Given the description of an element on the screen output the (x, y) to click on. 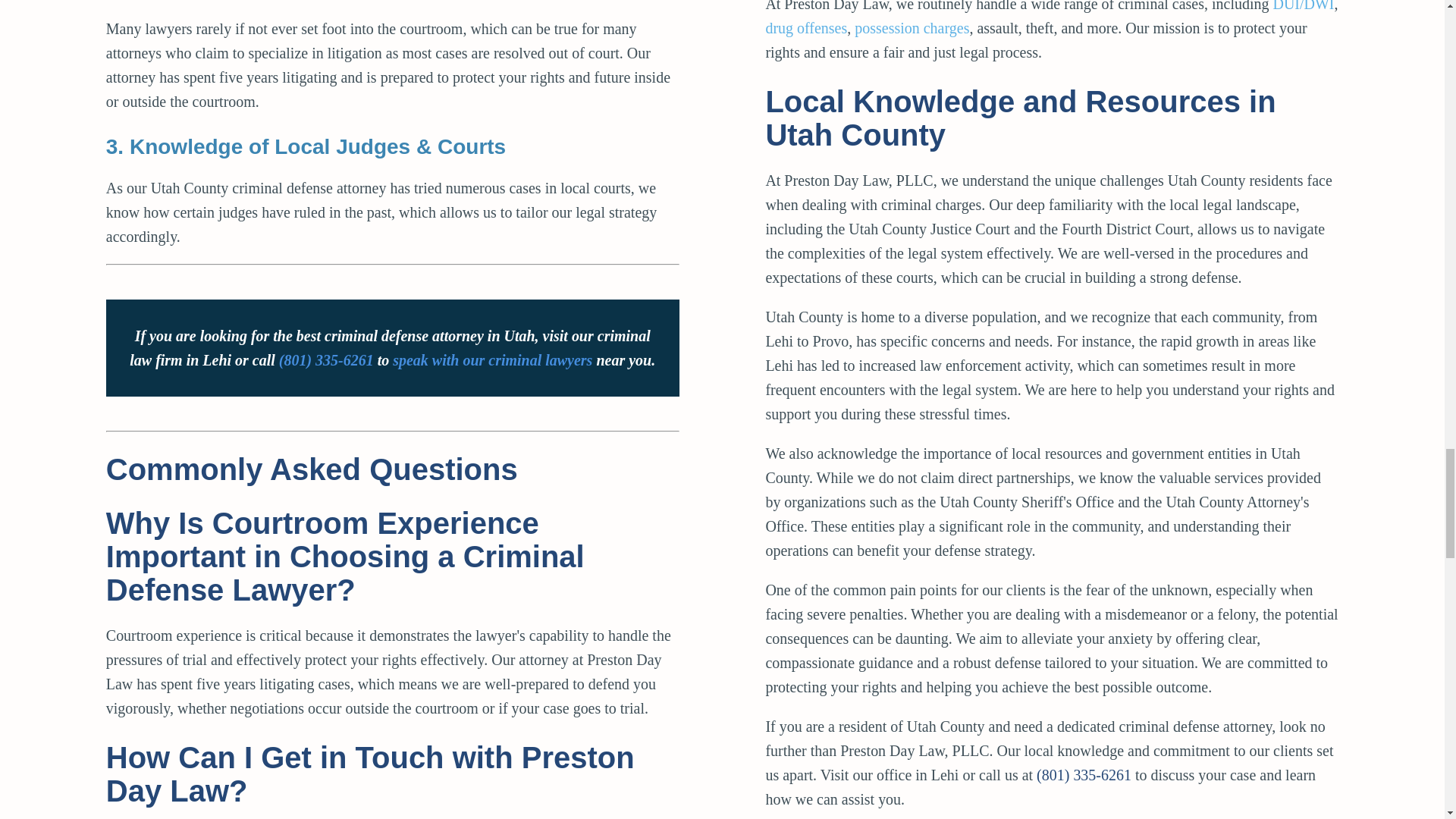
speak with our criminal lawyers (492, 360)
